Given the description of an element on the screen output the (x, y) to click on. 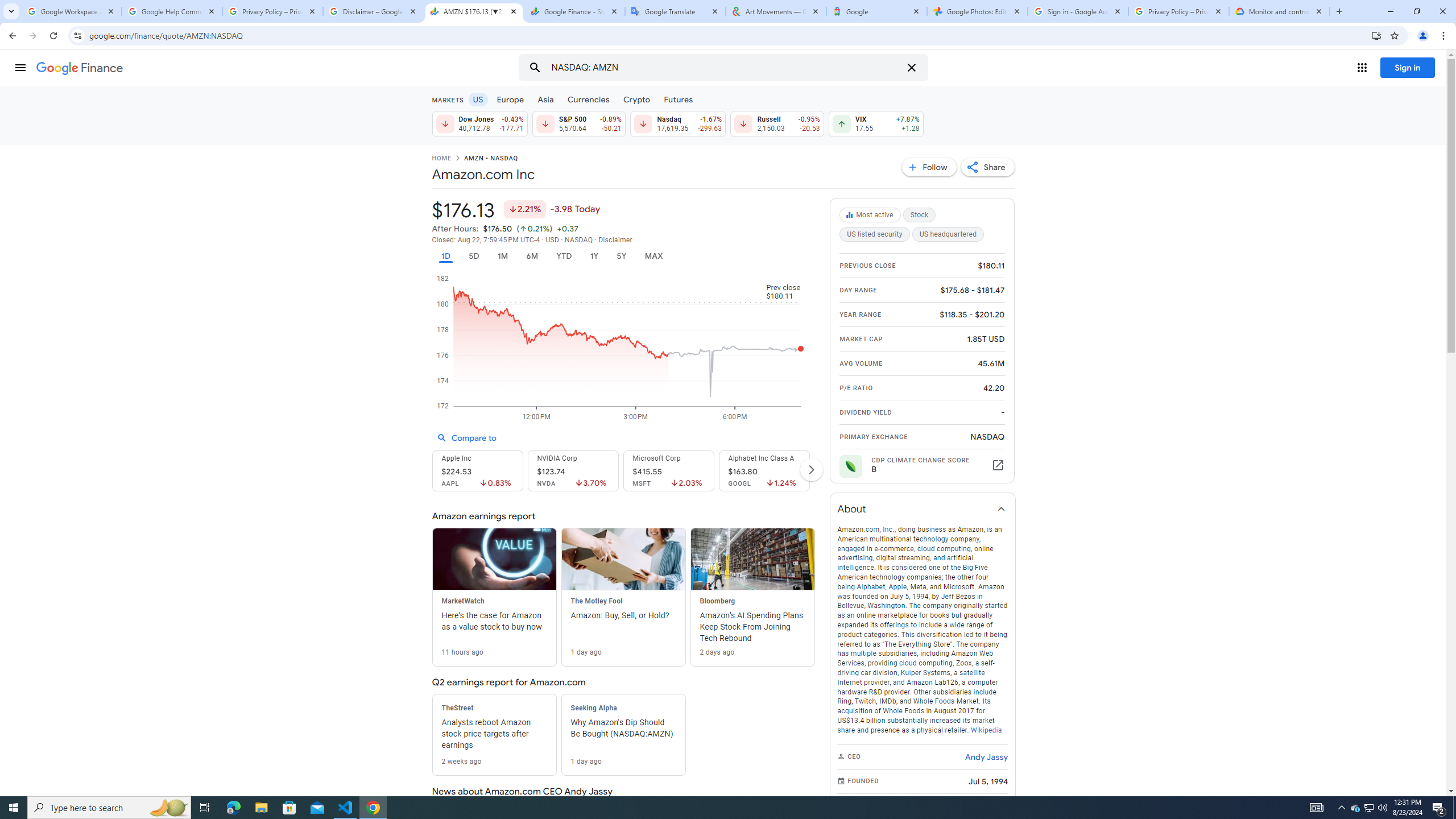
Andy Jassy (986, 756)
Nasdaq 17,619.35 Down by 1.67% -299.63 (678, 123)
VIX 17.55 Up by 7.87% +1.28 (875, 123)
5Y (621, 255)
5D (473, 255)
Disclaimer (614, 239)
